Given the description of an element on the screen output the (x, y) to click on. 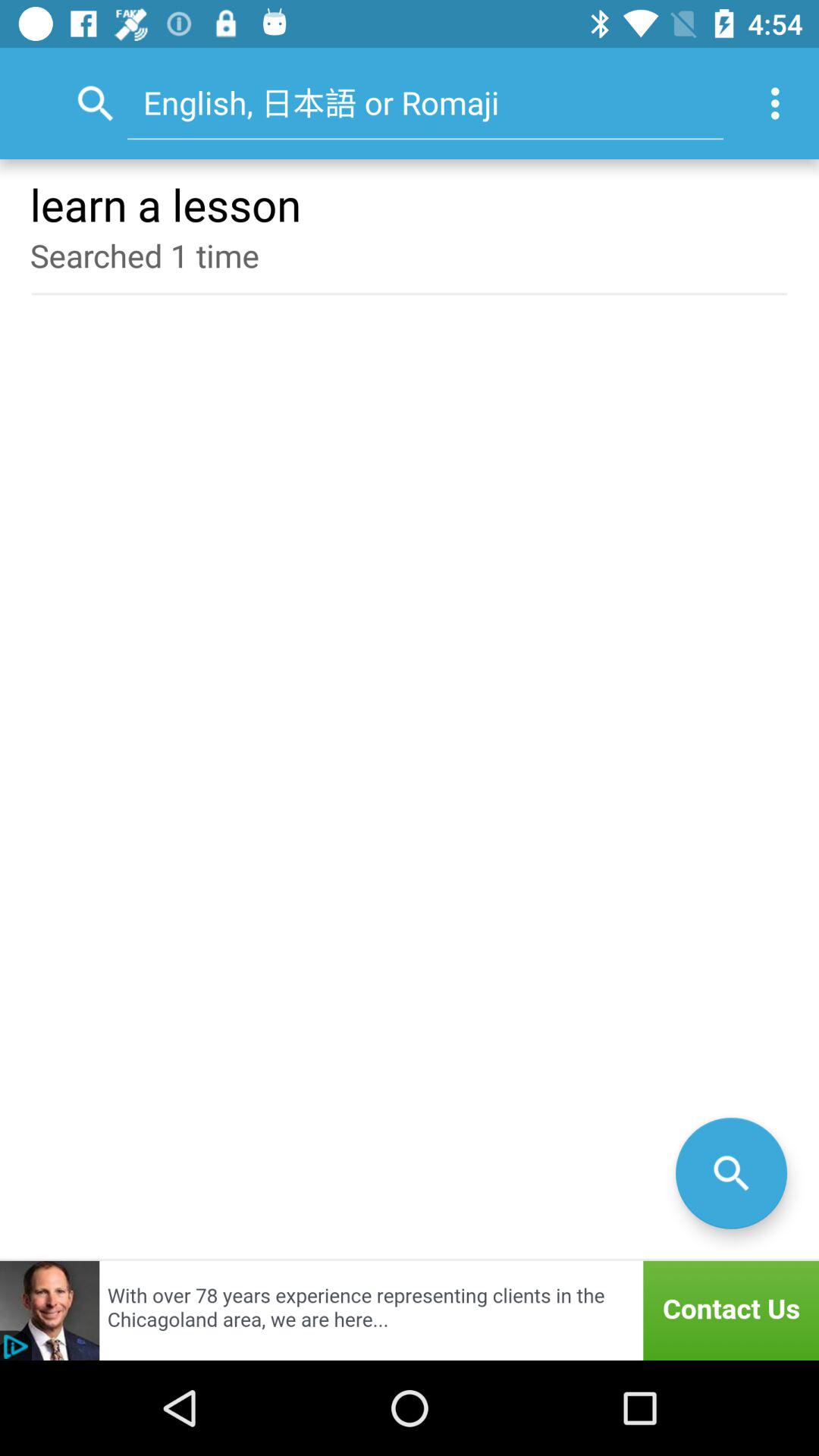
go to favorite (731, 1173)
